Given the description of an element on the screen output the (x, y) to click on. 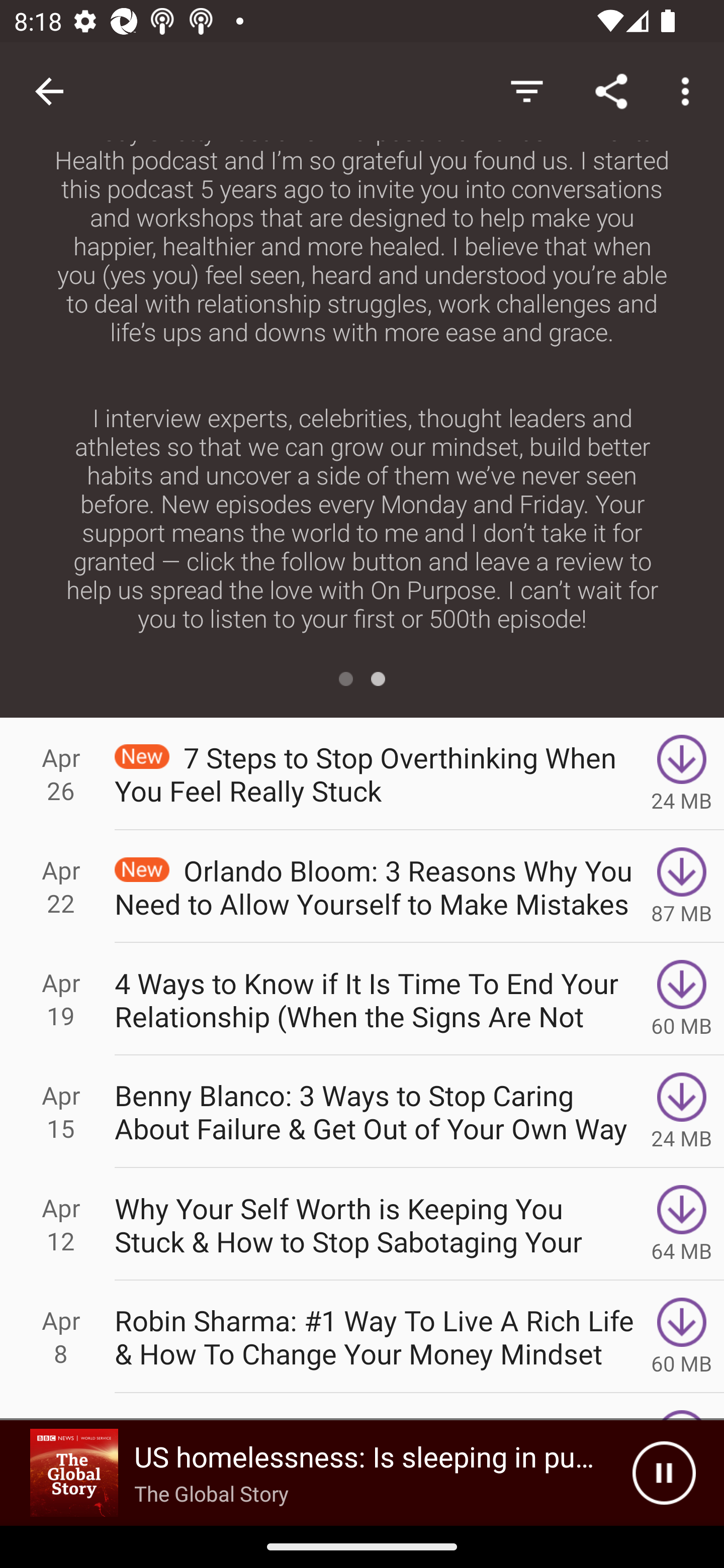
Navigate up (49, 91)
Hide Episodes (526, 90)
Share Link (611, 90)
More options (688, 90)
Download 24 MB (681, 773)
Download 87 MB (681, 885)
Download 60 MB (681, 998)
Download 24 MB (681, 1111)
Download 64 MB (681, 1224)
Download 60 MB (681, 1336)
Pause (663, 1472)
